Given the description of an element on the screen output the (x, y) to click on. 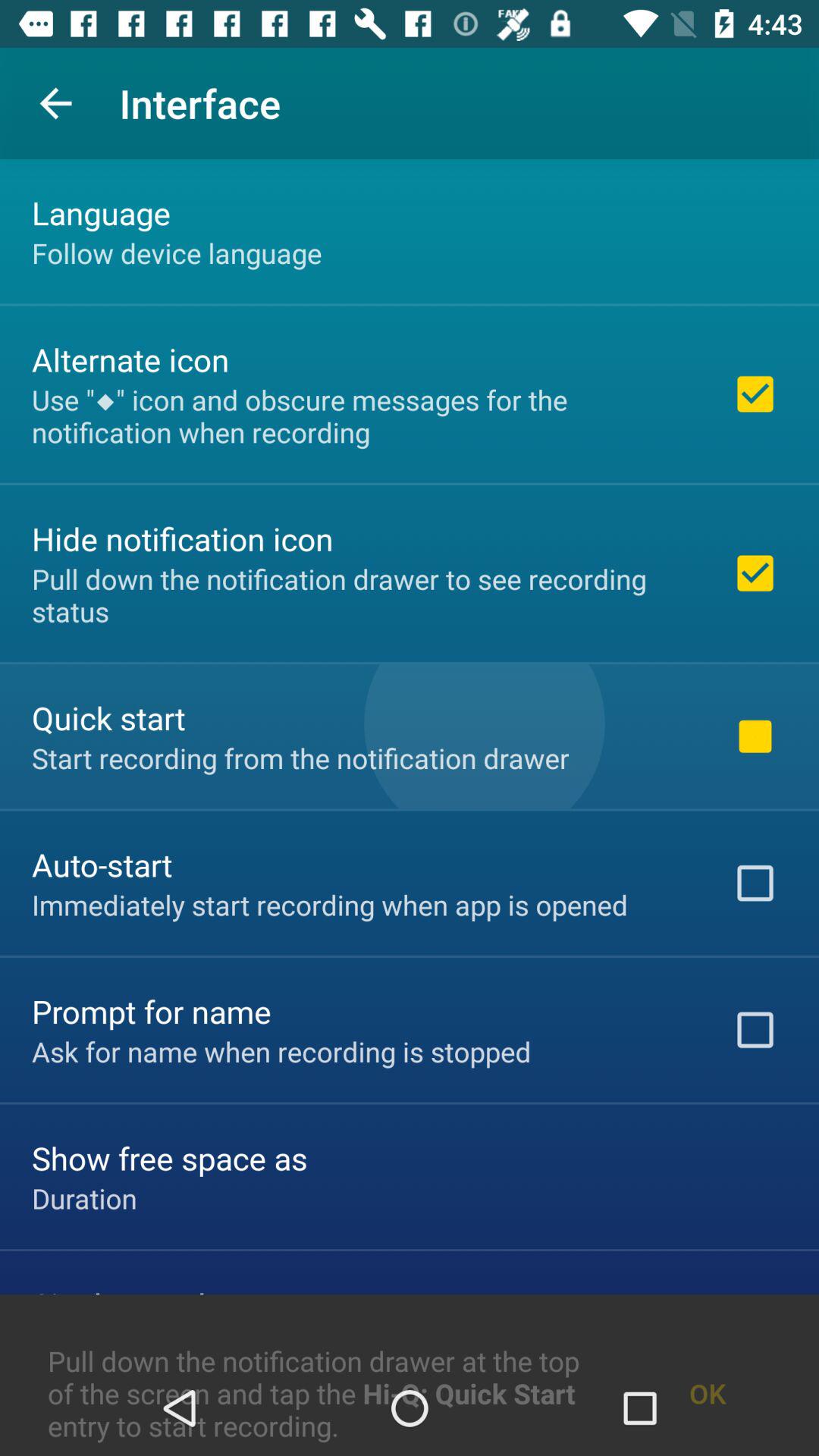
jump to the follow device language icon (176, 252)
